Given the description of an element on the screen output the (x, y) to click on. 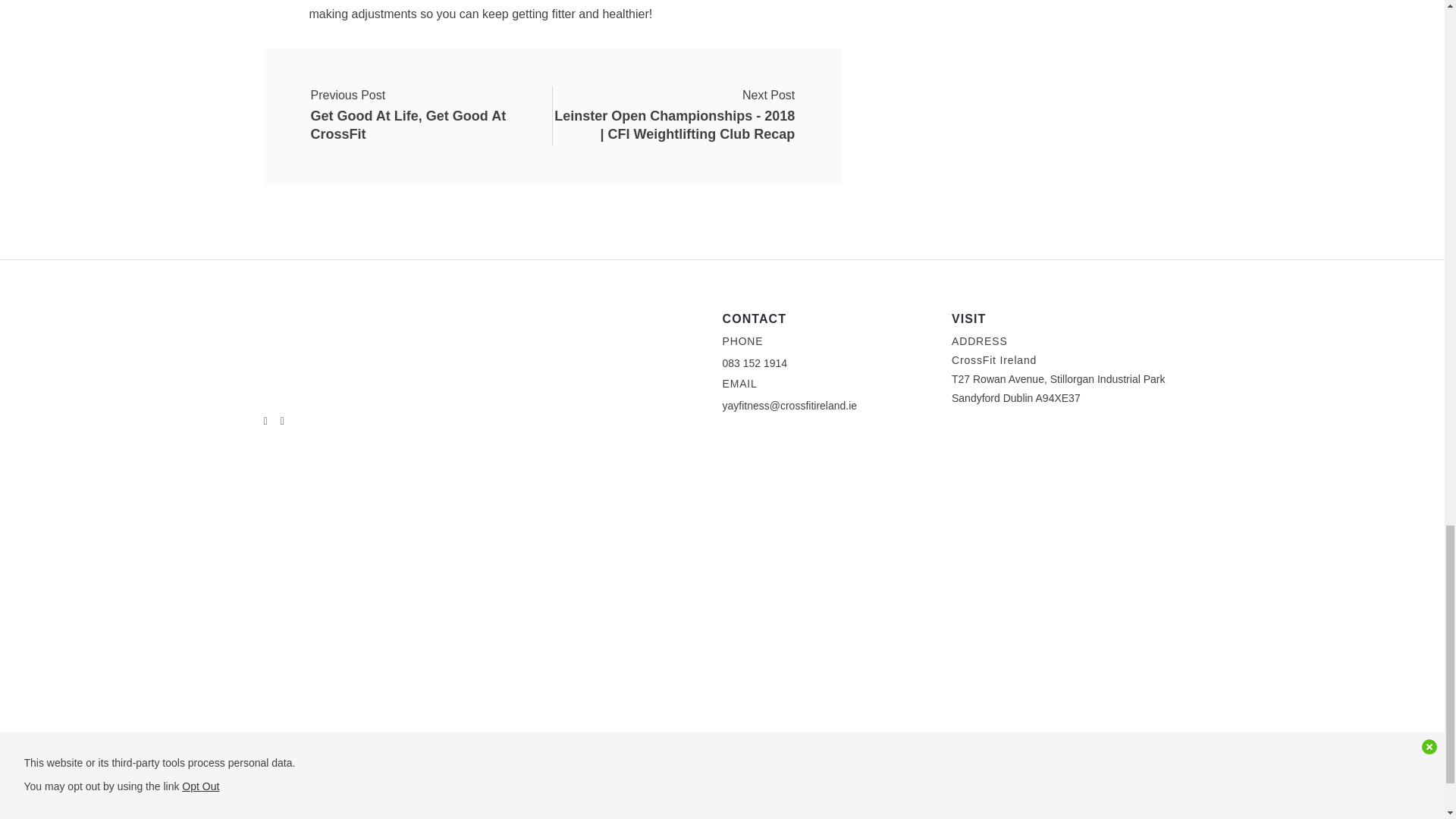
Get Good At Life, Get Good At CrossFit (430, 106)
Follow us on facebook (282, 419)
Follow us on instagram (430, 106)
